Given the description of an element on the screen output the (x, y) to click on. 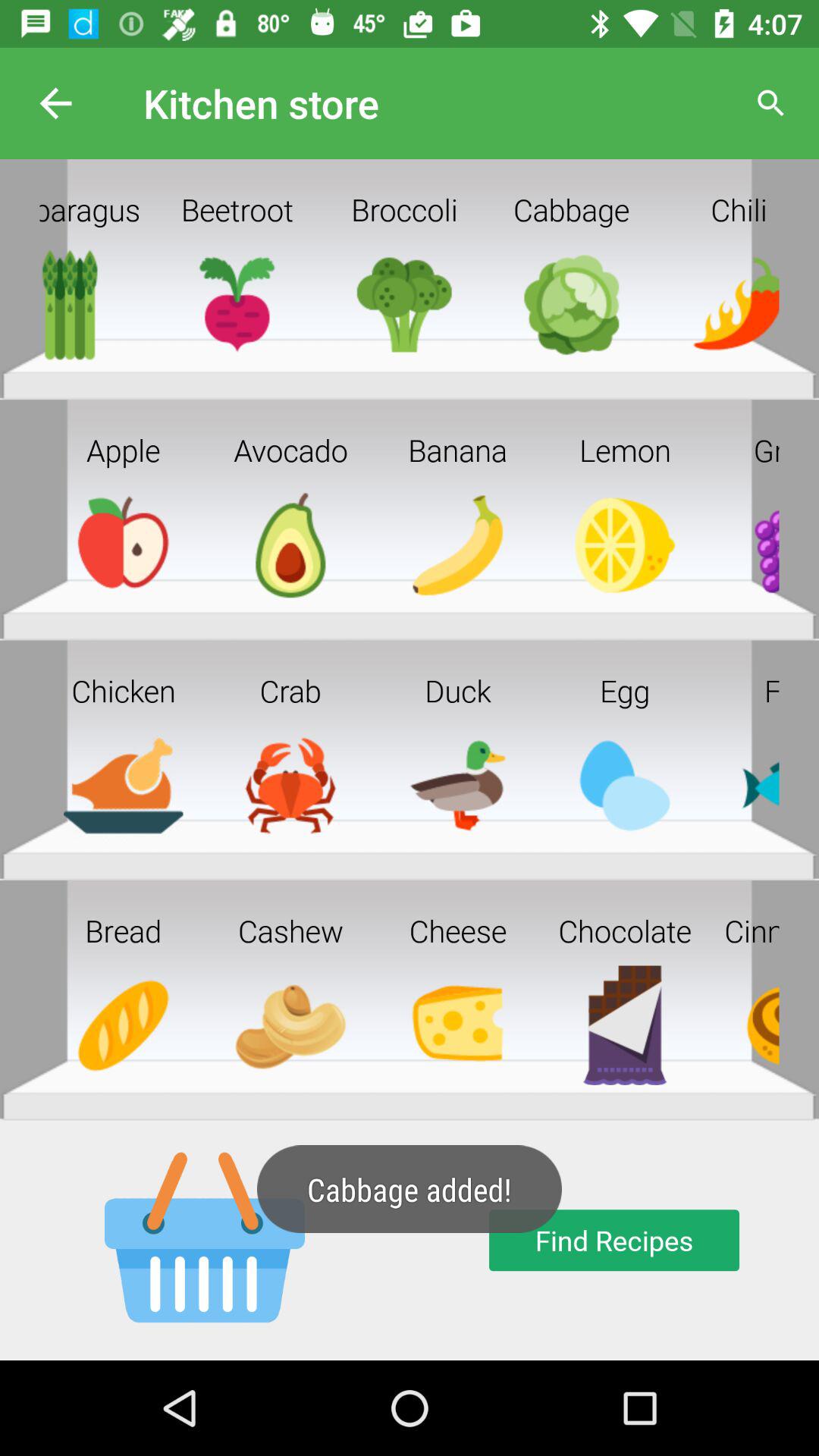
click on the broccoli image (404, 314)
click on the bread image (123, 1035)
click on the search icon (771, 103)
select the image below banana in the second row (417, 555)
